Given the description of an element on the screen output the (x, y) to click on. 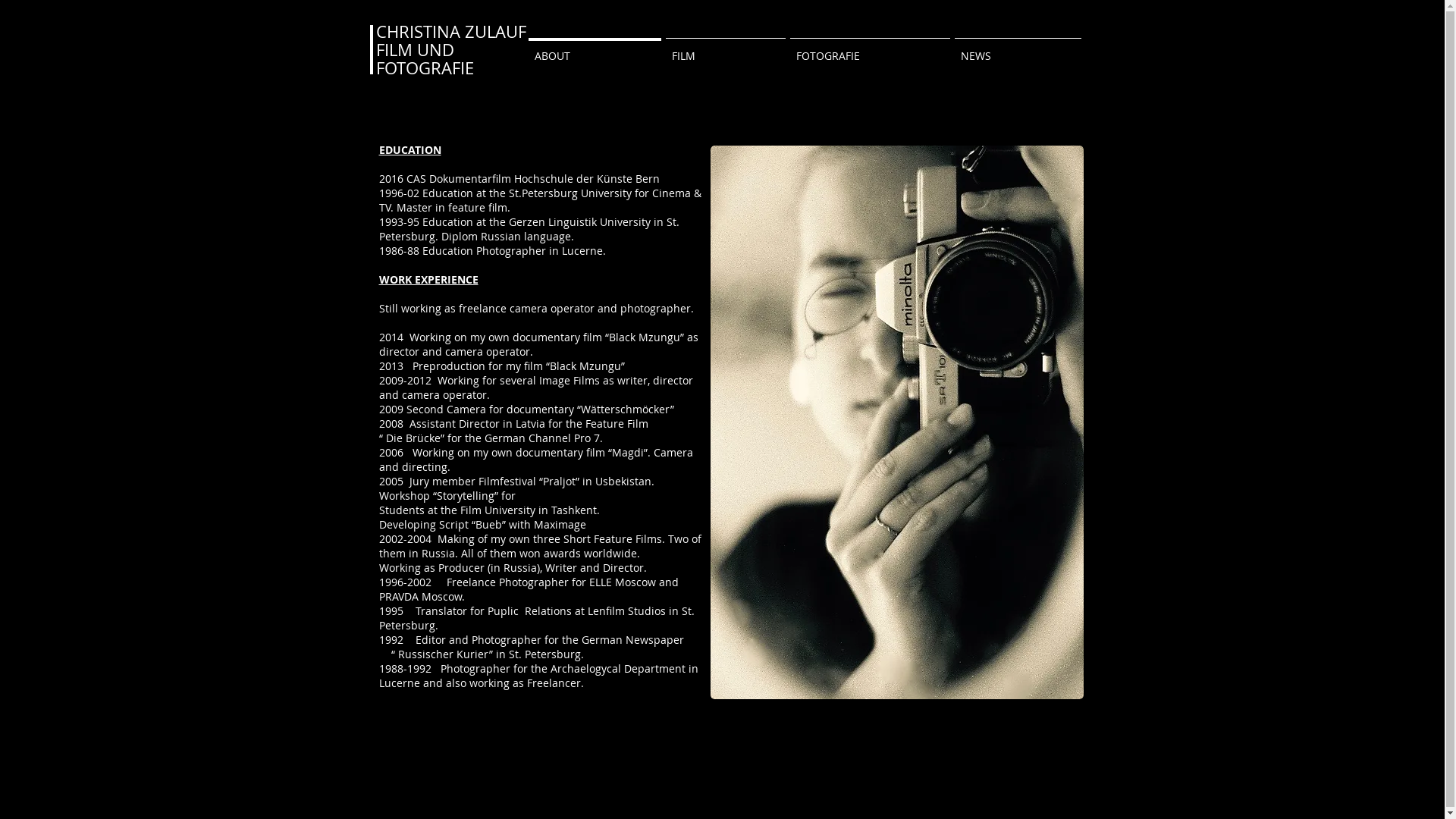
FILM Element type: text (724, 48)
NEWS Element type: text (1017, 48)
CHRISTINA ZULAUF Element type: text (451, 31)
ABOUT Element type: text (594, 48)
FOTOGRAFIE Element type: text (869, 48)
